Given the description of an element on the screen output the (x, y) to click on. 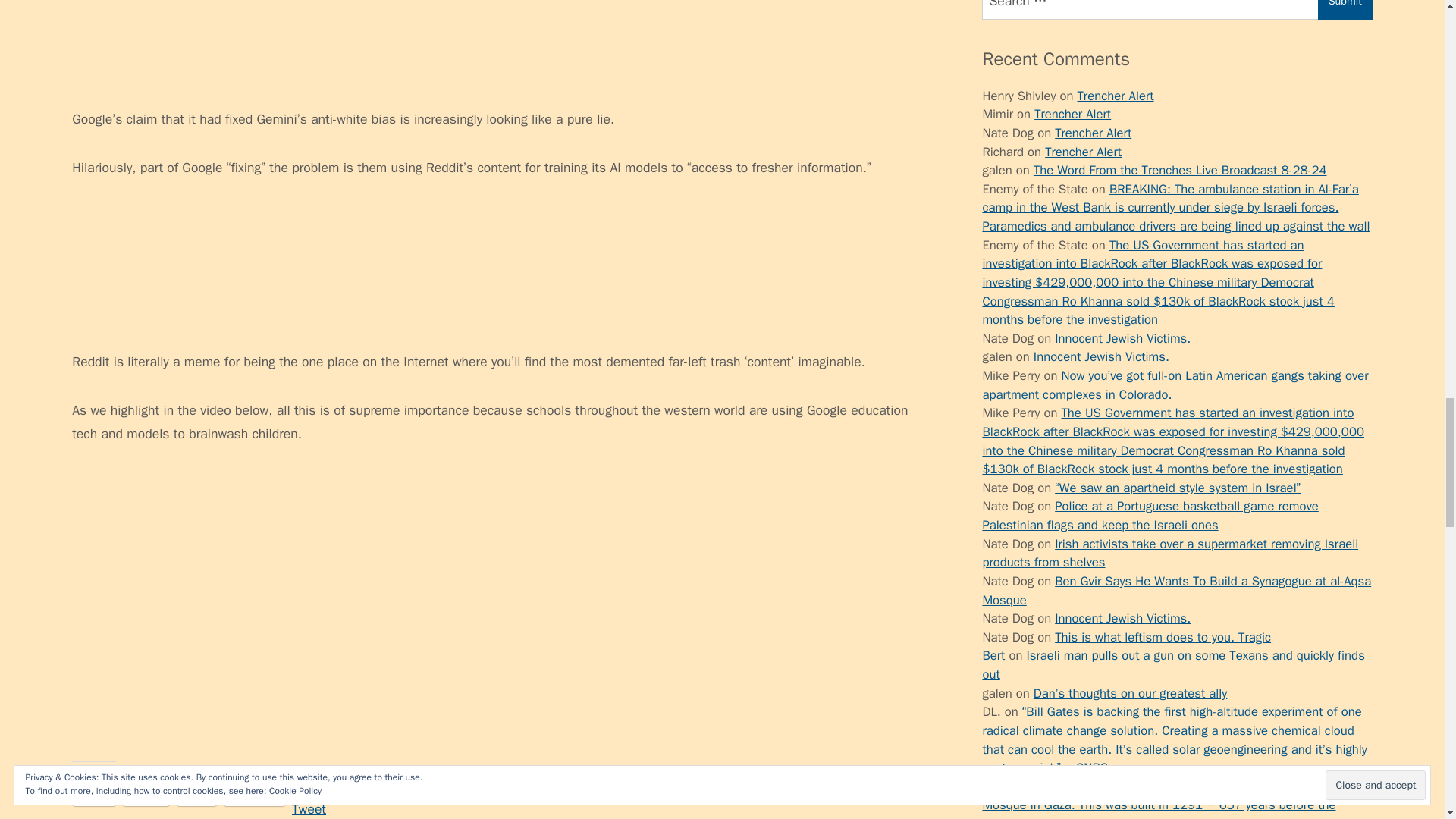
Click to share on Gab (196, 798)
porno (997, 616)
Gab (196, 798)
porno (997, 184)
Click to share on Telegram (254, 798)
Tweet (309, 797)
Print (94, 798)
Click to print (94, 798)
Email (146, 798)
Telegram (254, 798)
